Given the description of an element on the screen output the (x, y) to click on. 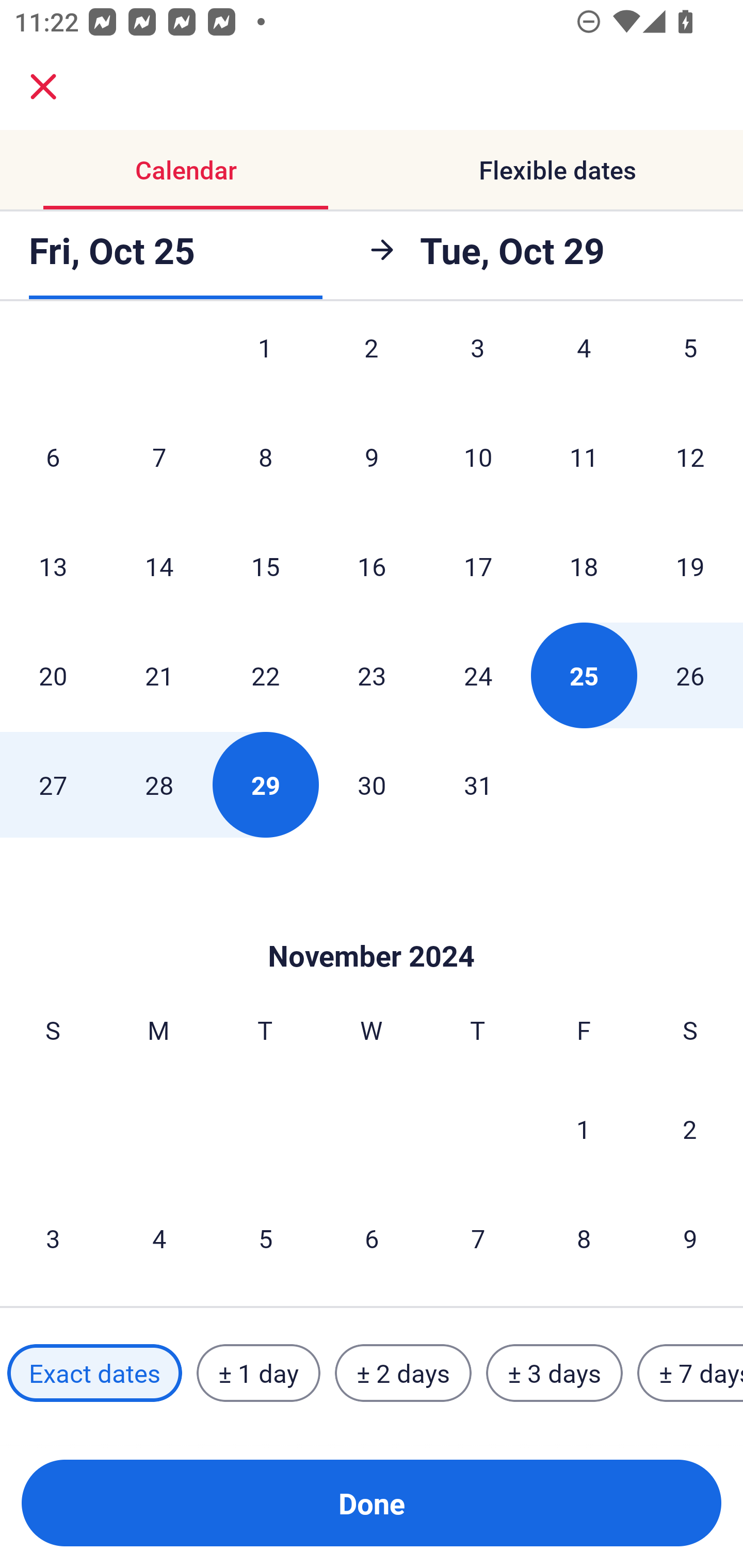
close. (43, 86)
Flexible dates (557, 170)
1 Tuesday, October 1, 2024 (264, 364)
2 Wednesday, October 2, 2024 (371, 364)
3 Thursday, October 3, 2024 (477, 364)
4 Friday, October 4, 2024 (584, 364)
5 Saturday, October 5, 2024 (690, 364)
6 Sunday, October 6, 2024 (53, 456)
7 Monday, October 7, 2024 (159, 456)
8 Tuesday, October 8, 2024 (265, 456)
9 Wednesday, October 9, 2024 (371, 456)
10 Thursday, October 10, 2024 (477, 456)
11 Friday, October 11, 2024 (584, 456)
12 Saturday, October 12, 2024 (690, 456)
13 Sunday, October 13, 2024 (53, 565)
14 Monday, October 14, 2024 (159, 565)
15 Tuesday, October 15, 2024 (265, 565)
16 Wednesday, October 16, 2024 (371, 565)
17 Thursday, October 17, 2024 (477, 565)
18 Friday, October 18, 2024 (584, 565)
19 Saturday, October 19, 2024 (690, 565)
20 Sunday, October 20, 2024 (53, 674)
21 Monday, October 21, 2024 (159, 674)
22 Tuesday, October 22, 2024 (265, 674)
23 Wednesday, October 23, 2024 (371, 674)
24 Thursday, October 24, 2024 (477, 674)
30 Wednesday, October 30, 2024 (371, 784)
31 Thursday, October 31, 2024 (477, 784)
Skip to Done (371, 925)
1 Friday, November 1, 2024 (583, 1128)
2 Saturday, November 2, 2024 (689, 1128)
3 Sunday, November 3, 2024 (53, 1237)
4 Monday, November 4, 2024 (159, 1237)
5 Tuesday, November 5, 2024 (265, 1237)
6 Wednesday, November 6, 2024 (371, 1237)
7 Thursday, November 7, 2024 (477, 1237)
8 Friday, November 8, 2024 (584, 1237)
9 Saturday, November 9, 2024 (690, 1237)
Exact dates (94, 1372)
± 1 day (258, 1372)
± 2 days (403, 1372)
± 3 days (553, 1372)
± 7 days (690, 1372)
Done (371, 1502)
